Given the description of an element on the screen output the (x, y) to click on. 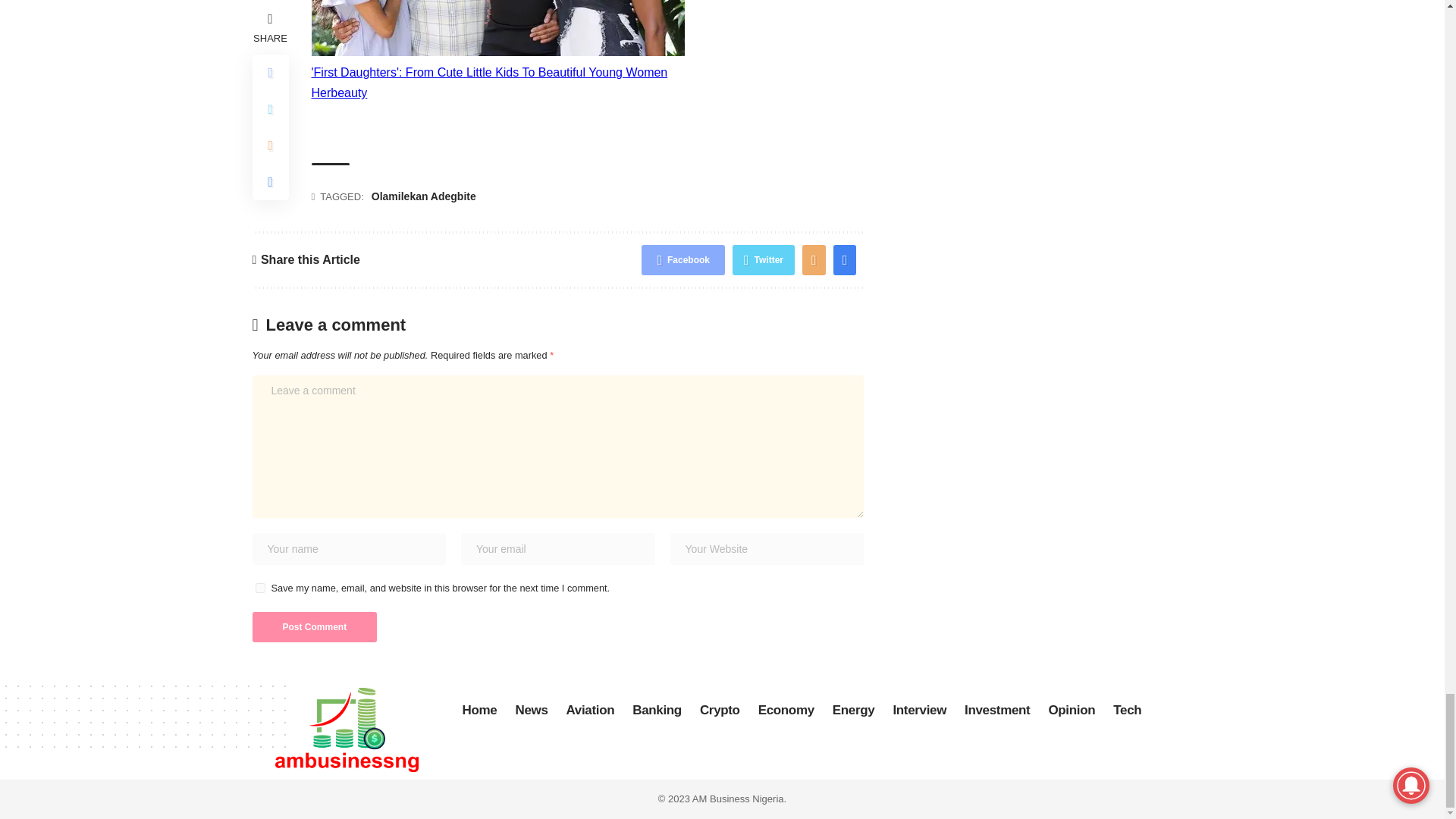
Post Comment (314, 626)
yes (259, 587)
